Given the description of an element on the screen output the (x, y) to click on. 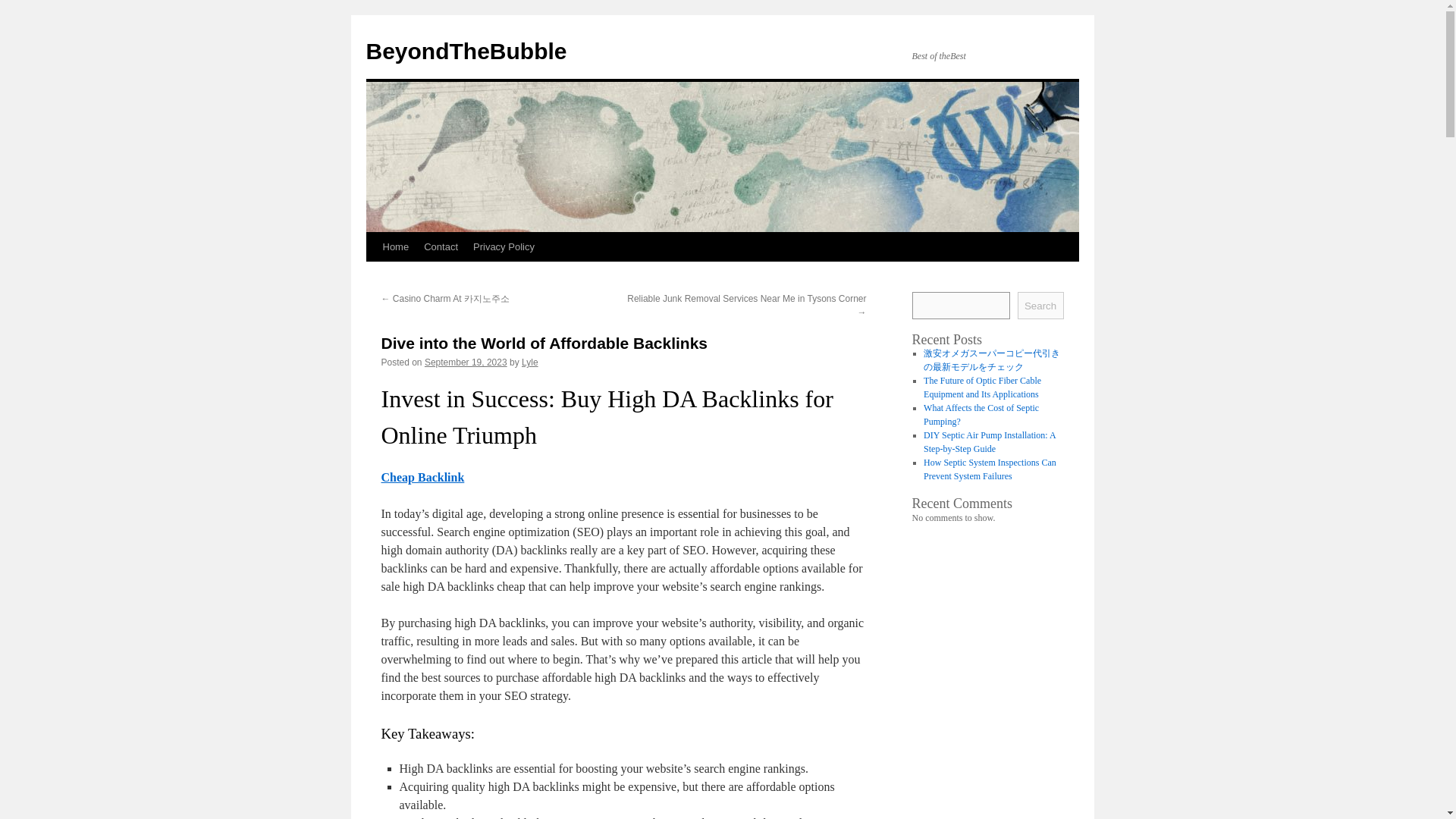
BeyondTheBubble (465, 50)
View all posts by Lyle (529, 362)
Search (1040, 305)
How Septic System Inspections Can Prevent System Failures (990, 469)
5:19 am (465, 362)
What Affects the Cost of Septic Pumping? (981, 414)
Privacy Policy (503, 246)
DIY Septic Air Pump Installation: A Step-by-Step Guide (989, 441)
Lyle (529, 362)
